Given the description of an element on the screen output the (x, y) to click on. 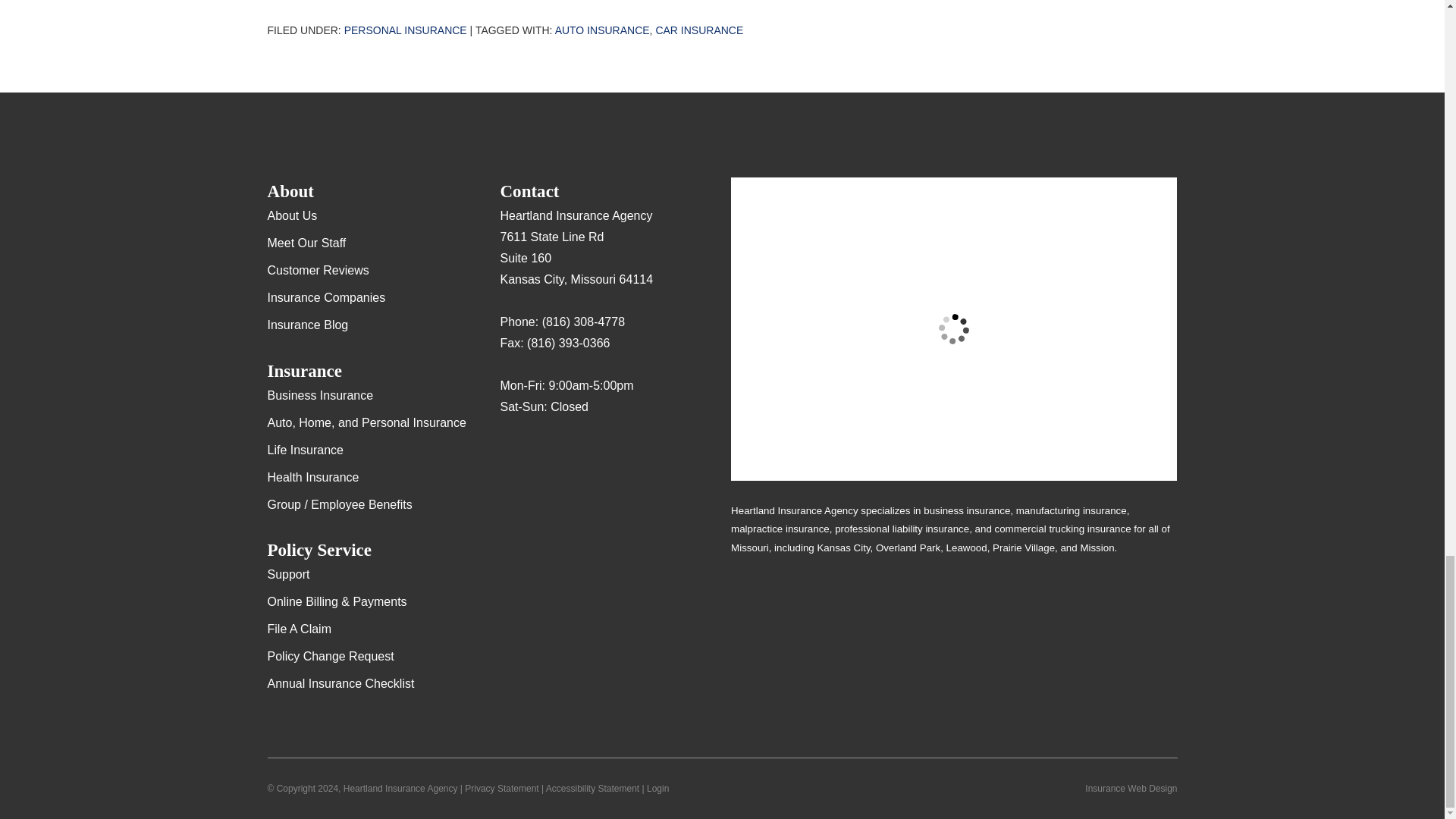
Facebook (571, 451)
Auto Insurance (601, 30)
Car Insurance (698, 30)
LinkedIn (600, 451)
Google Maps (511, 451)
Personal Insurance (405, 30)
Yelp (541, 451)
